Given the description of an element on the screen output the (x, y) to click on. 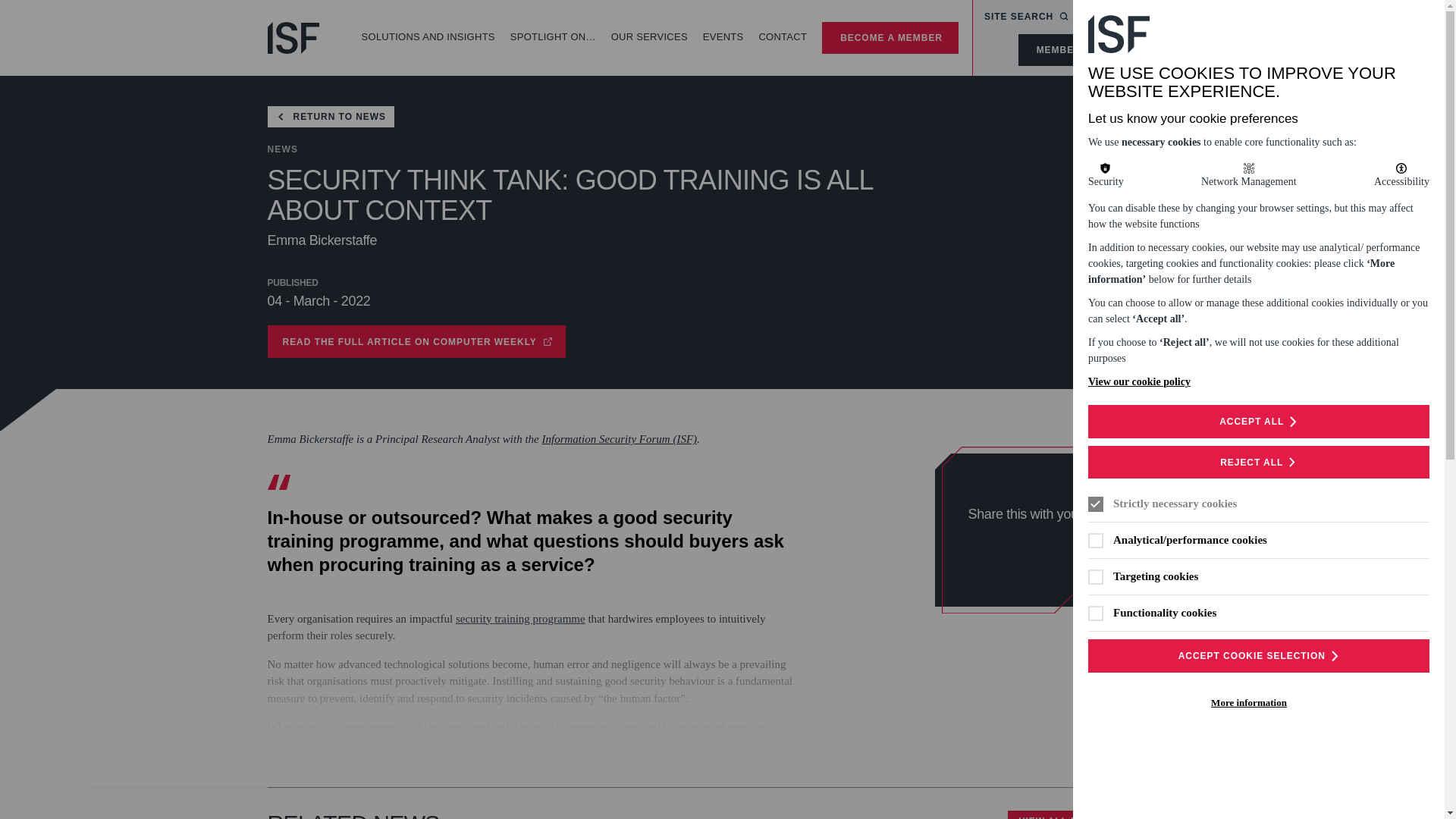
SOLUTIONS AND INSIGHTS (428, 37)
CONTACT (1074, 50)
OUR SERVICES (782, 37)
Information Security Forum (649, 37)
SITE SEARCH (292, 38)
READ THE FULL ARTICLE ON COMPUTER WEEKLY (1026, 17)
security training programme (416, 341)
DOWNLOADS (520, 618)
Information Security Forum (1123, 17)
EVENTS (292, 38)
BECOME A MEMBER (723, 37)
VIEW ALL NEWS ARTICLES (890, 38)
RETURN TO NEWS (1091, 814)
